Given the description of an element on the screen output the (x, y) to click on. 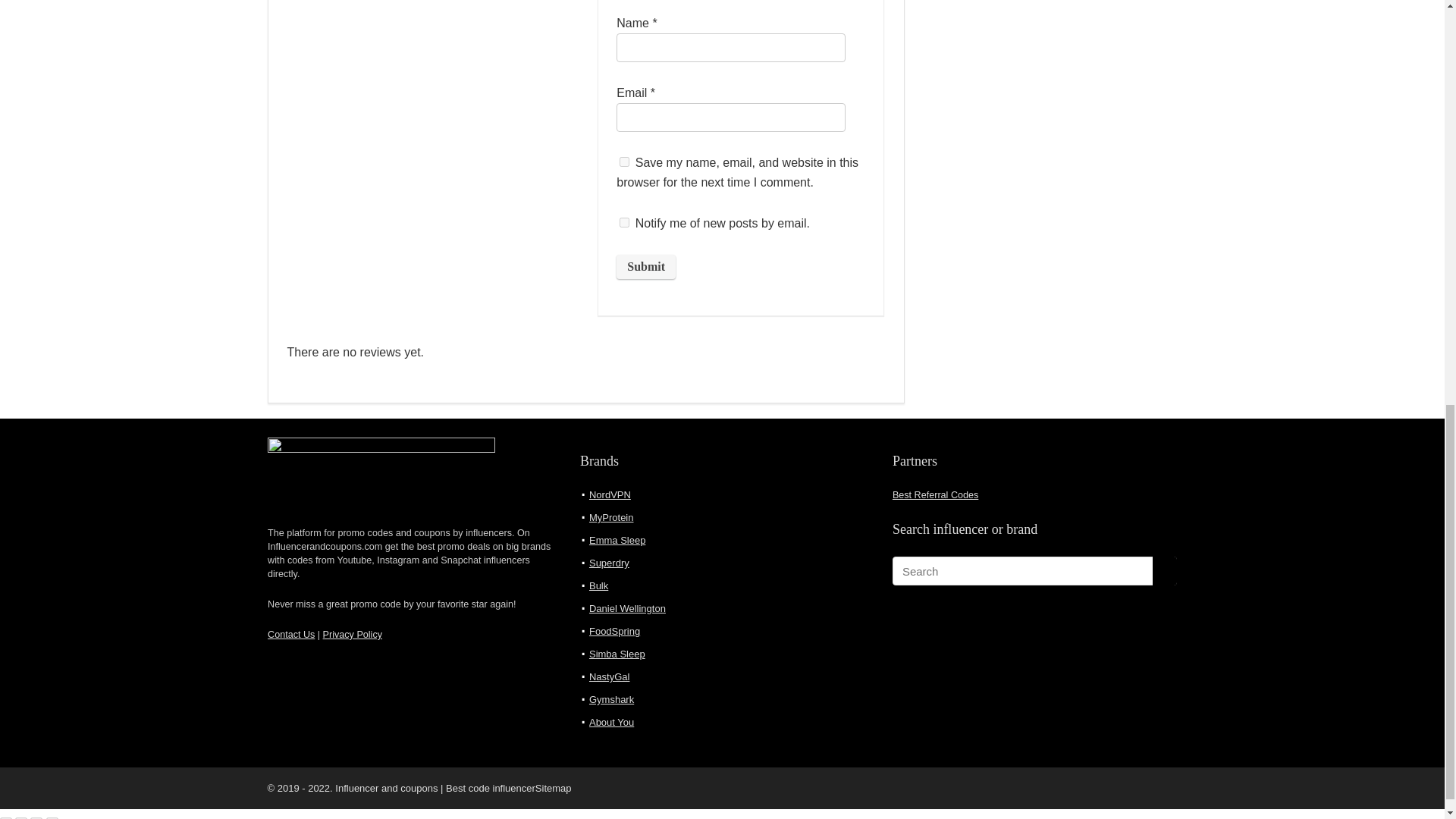
Submit (645, 266)
NastyGal (608, 676)
MyProtein (611, 517)
Sitemap (553, 787)
FoodSpring (614, 631)
Best Referral Codes (935, 494)
Submit (645, 266)
Contact Us (290, 634)
Bulk (598, 585)
Daniel Wellington (627, 608)
